Given the description of an element on the screen output the (x, y) to click on. 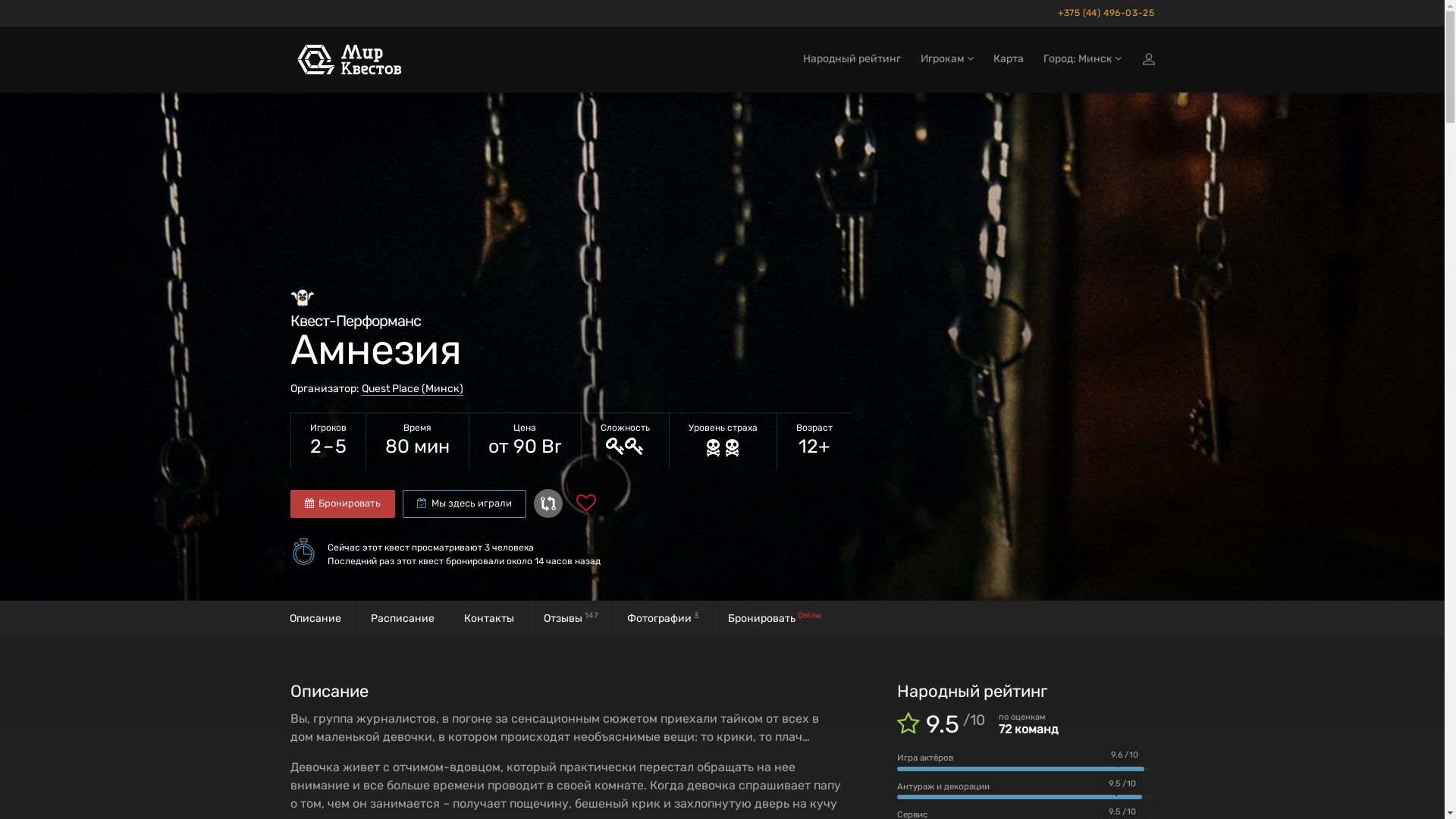
+375 (44) 496-03-25 Element type: text (1102, 13)
